Given the description of an element on the screen output the (x, y) to click on. 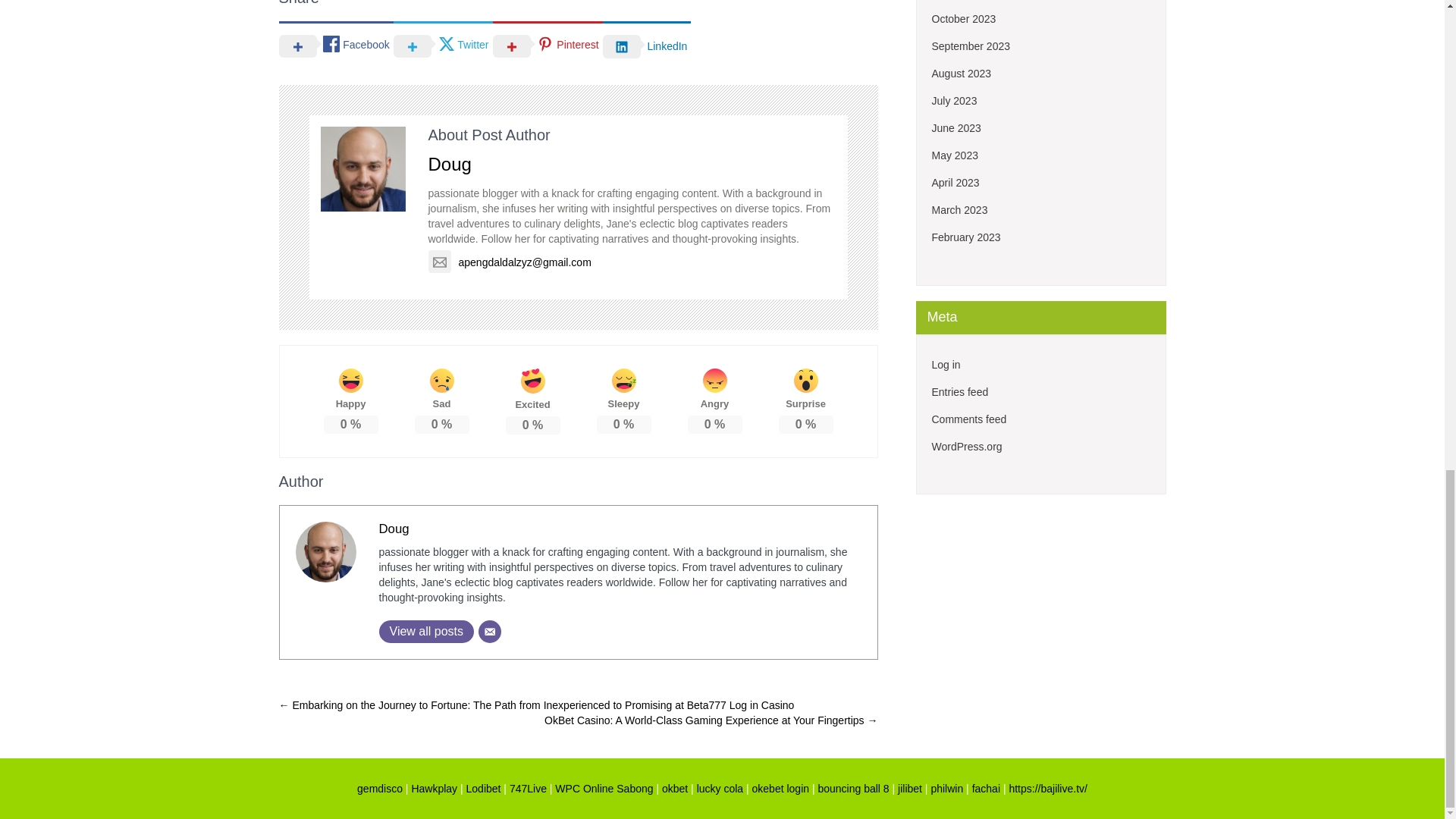
LinkedIn (646, 45)
Pinterest (547, 44)
Doug (449, 163)
Facebook (336, 44)
View all posts (426, 630)
View all posts (426, 630)
Twitter (443, 44)
Doug (393, 528)
Doug (393, 528)
